Given the description of an element on the screen output the (x, y) to click on. 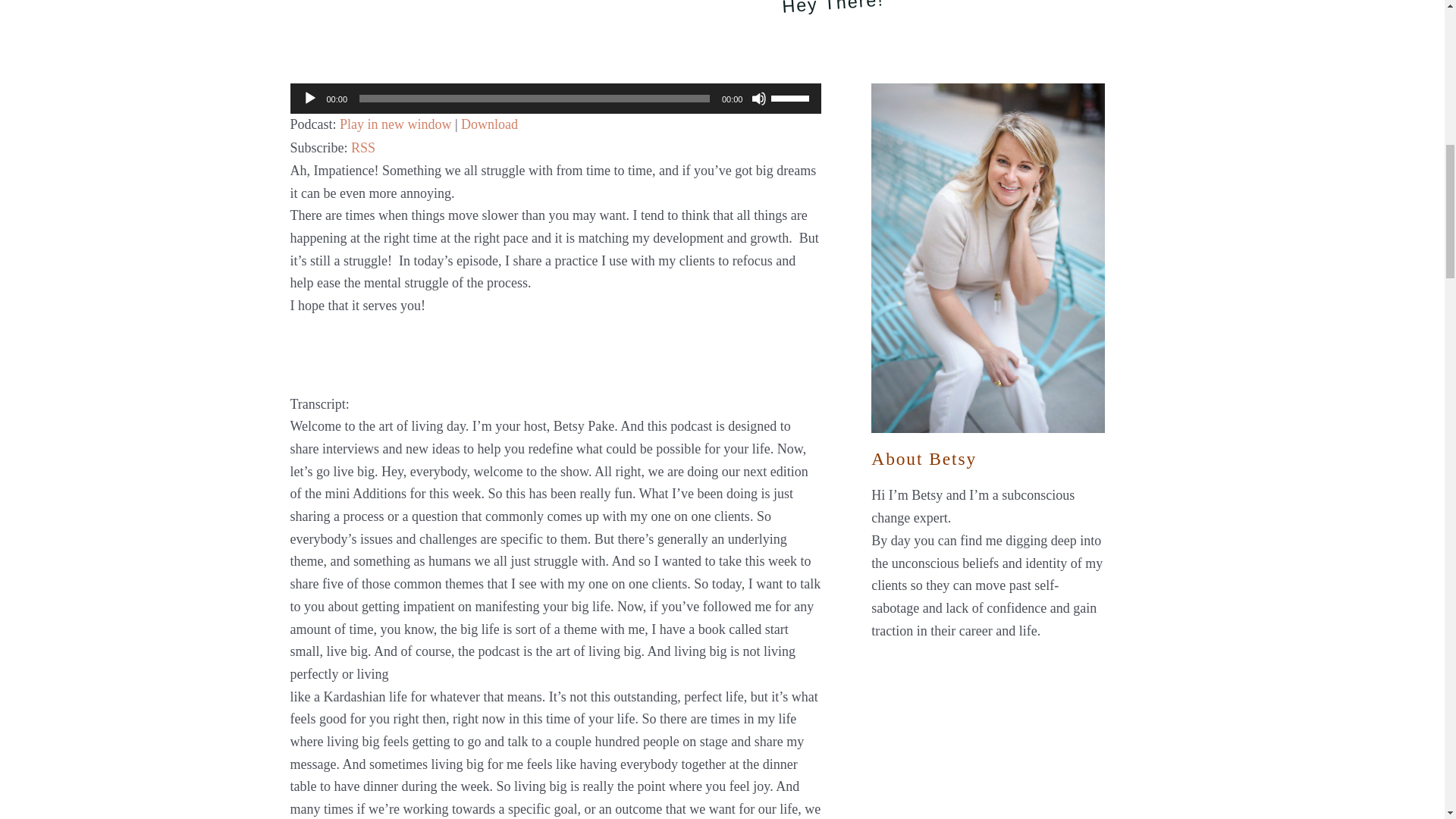
Download (489, 124)
Play in new window (395, 124)
Subscribe via RSS (362, 147)
Download (489, 124)
RSS (362, 147)
Play (309, 98)
Mute (759, 98)
Play in new window (395, 124)
